Given the description of an element on the screen output the (x, y) to click on. 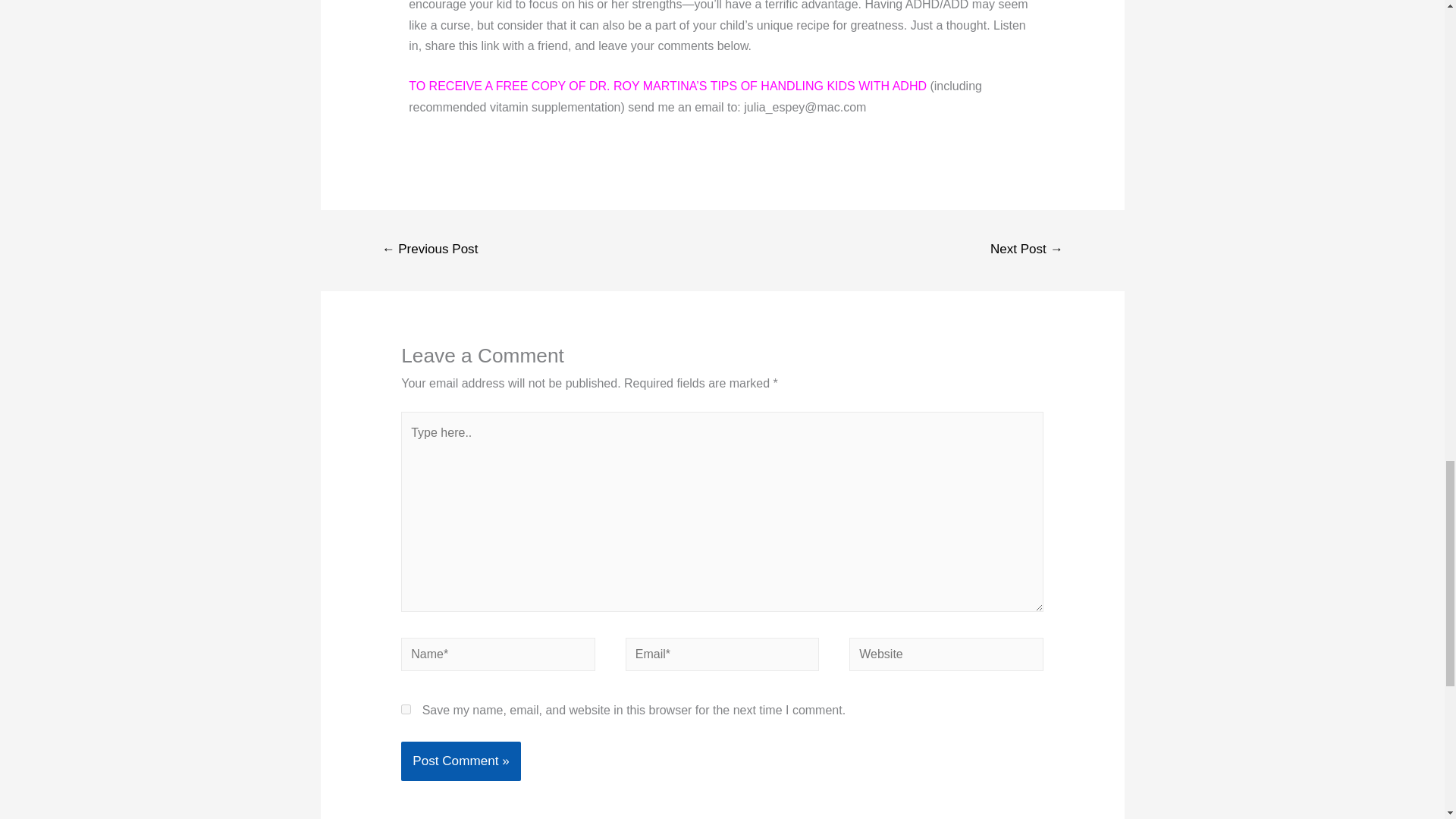
yes (405, 709)
